Given the description of an element on the screen output the (x, y) to click on. 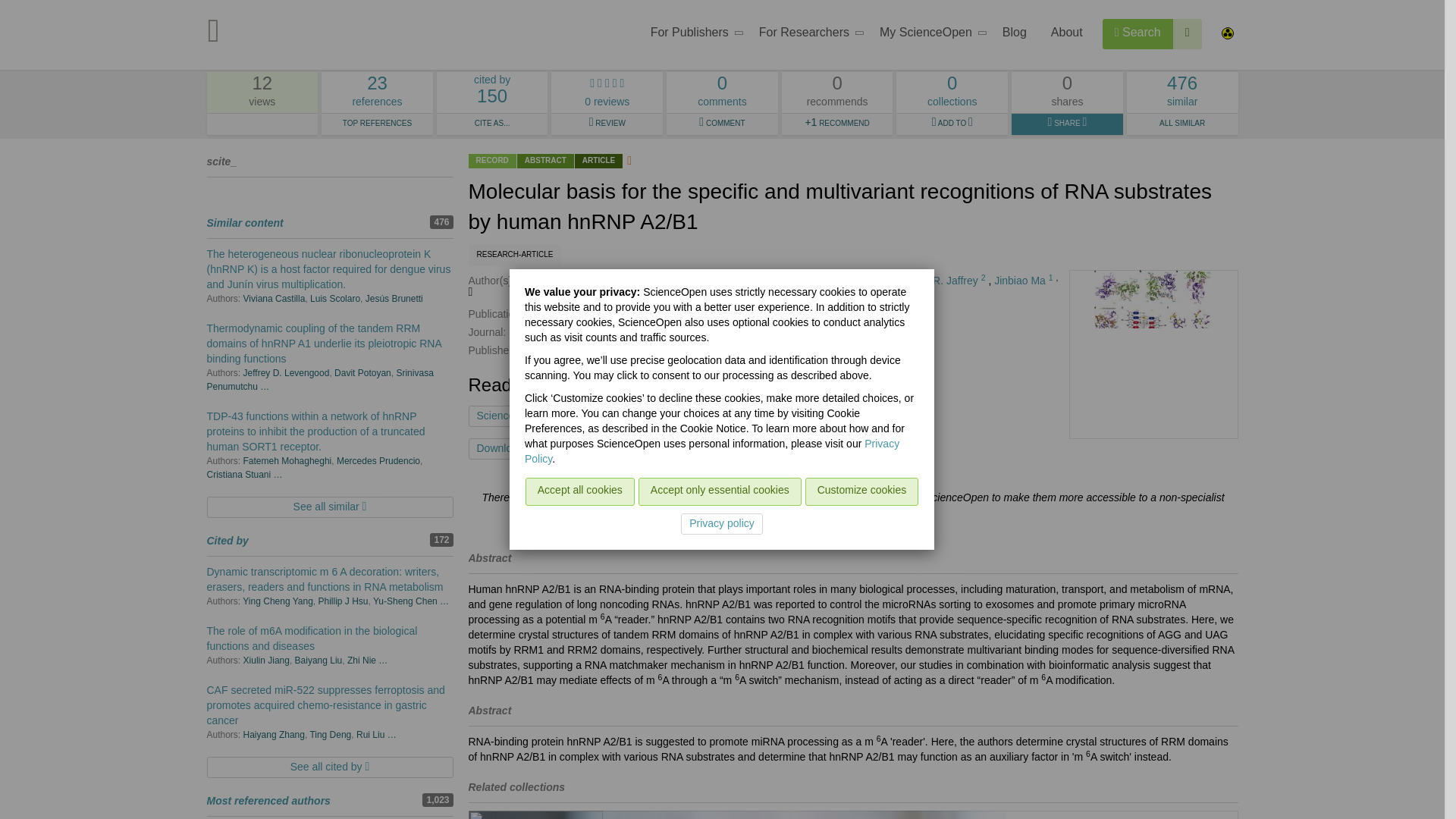
Search (1137, 33)
Bookmark (647, 448)
For Researchers (806, 34)
For Publishers (376, 92)
Advanced search (692, 34)
TOP REFERENCES (1187, 33)
My ScienceOpen (376, 124)
